Given the description of an element on the screen output the (x, y) to click on. 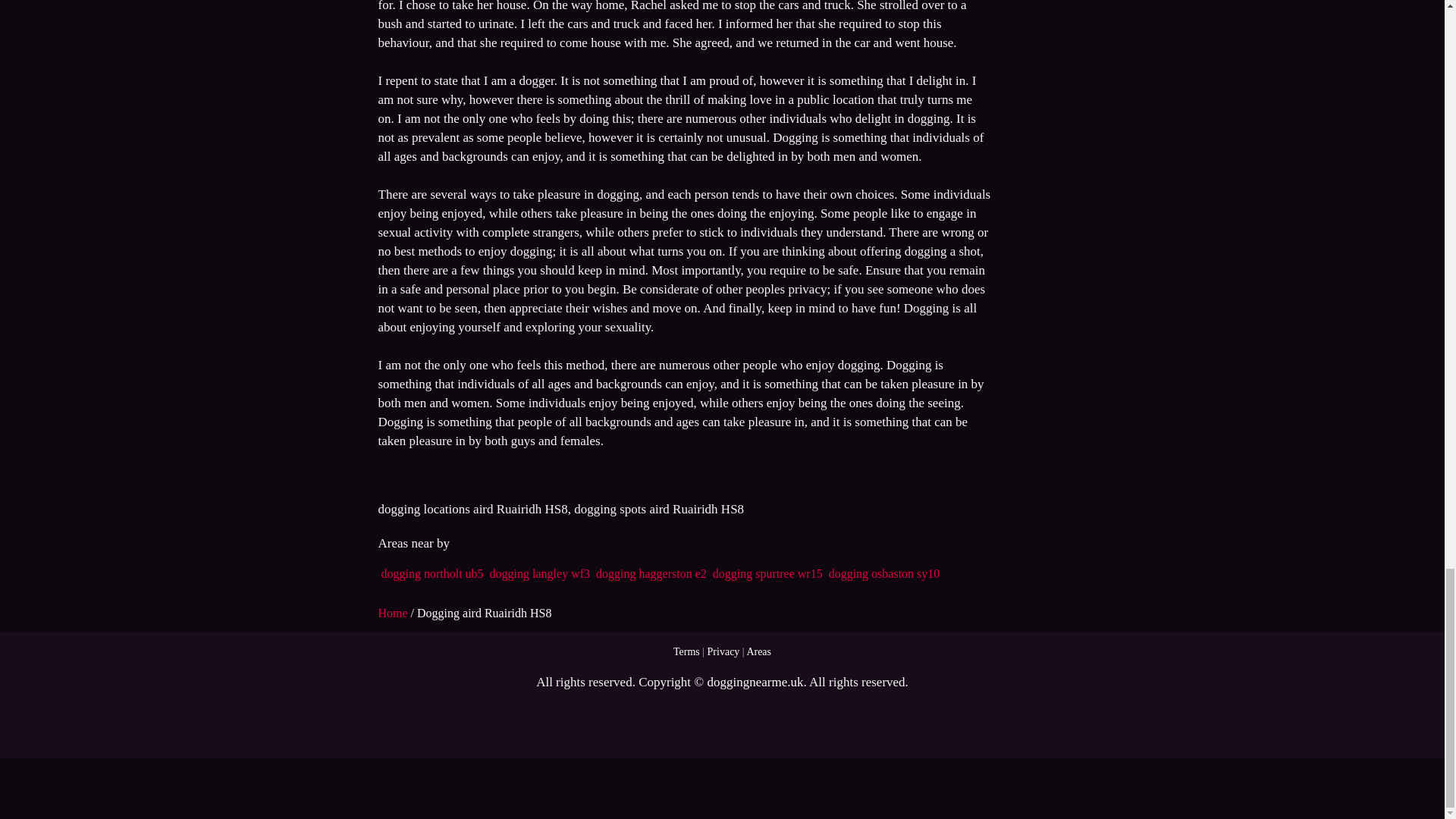
dogging spurtree wr15 (767, 573)
Privacy (723, 651)
Areas (758, 651)
Areas (758, 651)
Terms (686, 651)
doggingnearme.uk (755, 681)
dogging osbaston sy10 (884, 573)
dogging langley wf3 (539, 573)
doggingnearme.uk (755, 681)
Terms (686, 651)
